Given the description of an element on the screen output the (x, y) to click on. 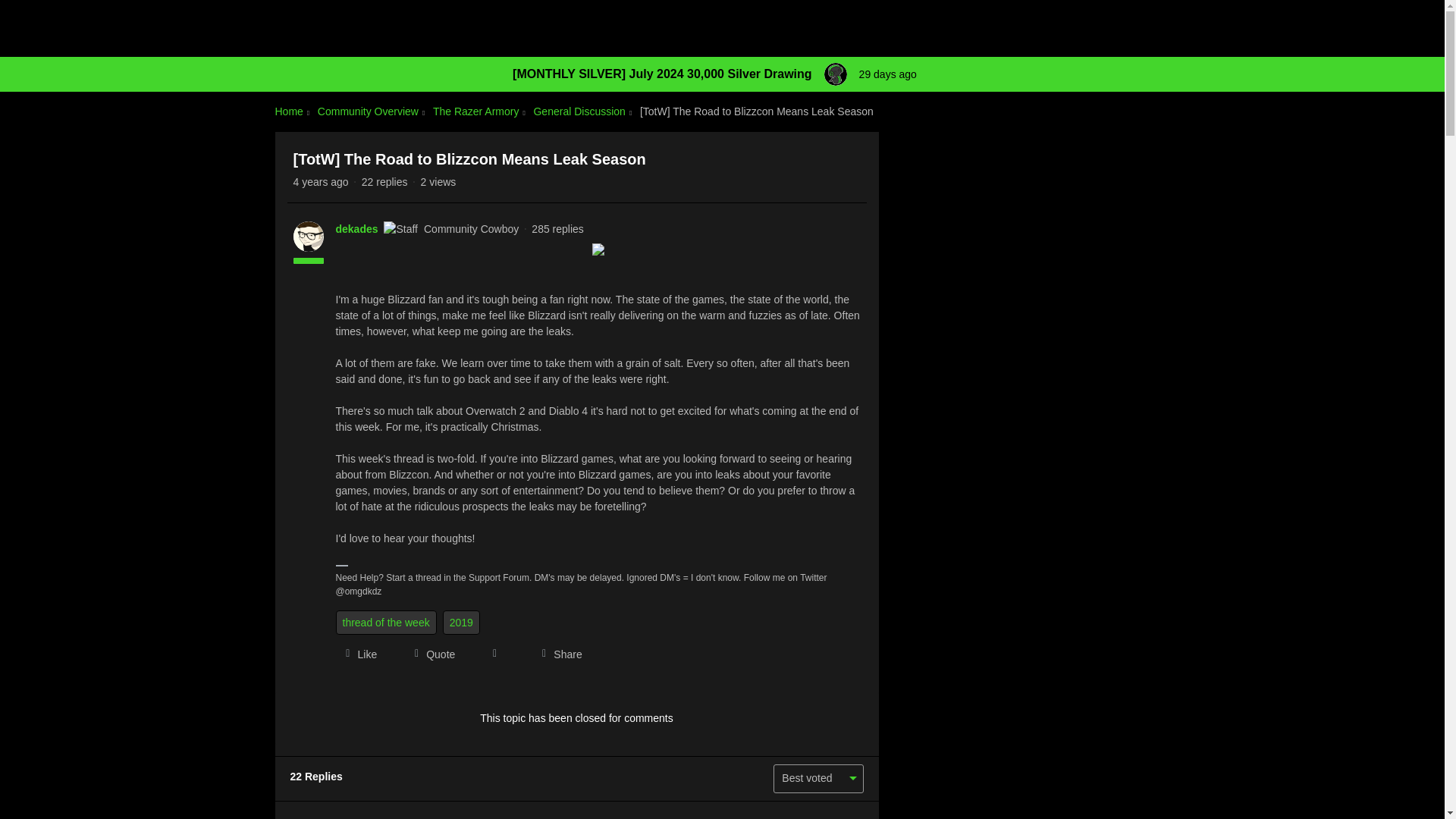
Quote (429, 654)
Like (355, 654)
thread of the week (384, 622)
dekades (355, 229)
22 replies (384, 182)
General Discussion (578, 111)
Home (288, 111)
2019 (461, 622)
dekades (355, 229)
The Razer Armory (475, 111)
Community Overview (368, 111)
